Given the description of an element on the screen output the (x, y) to click on. 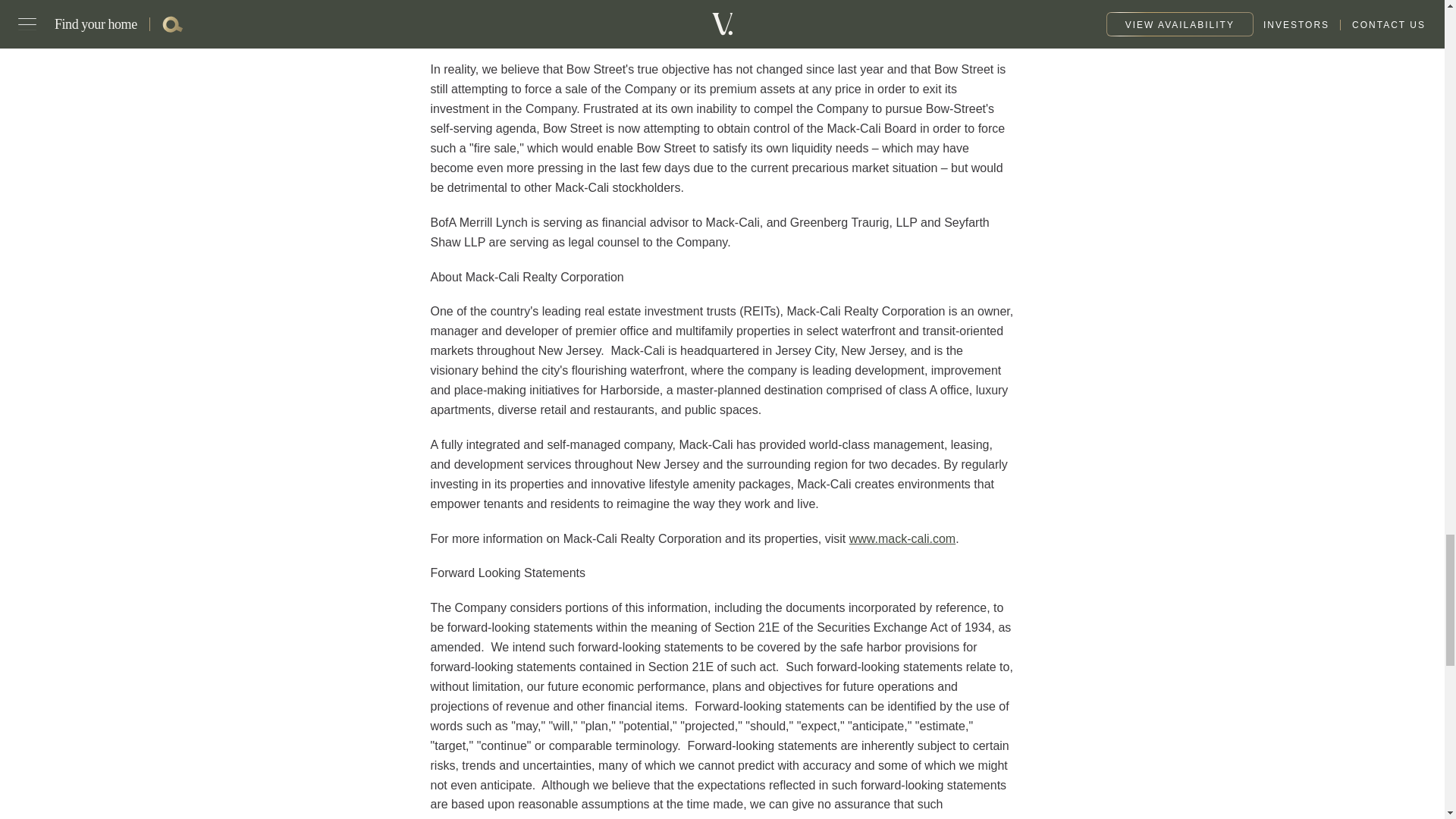
Opens in a new window (901, 538)
